Given the description of an element on the screen output the (x, y) to click on. 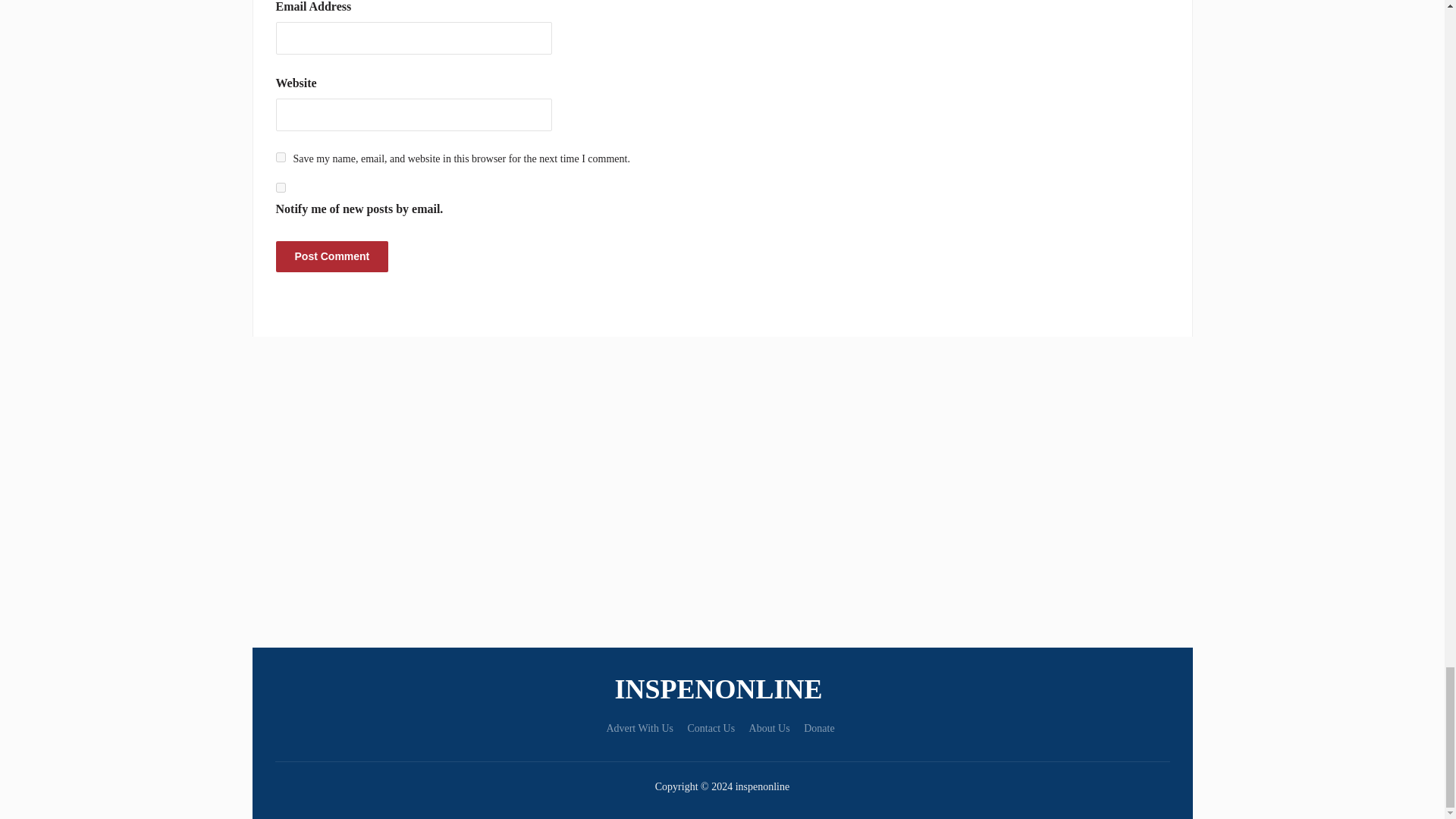
subscribe (280, 187)
insurance and pension news (721, 688)
Post Comment (332, 255)
Post Comment (332, 255)
yes (280, 157)
